Given the description of an element on the screen output the (x, y) to click on. 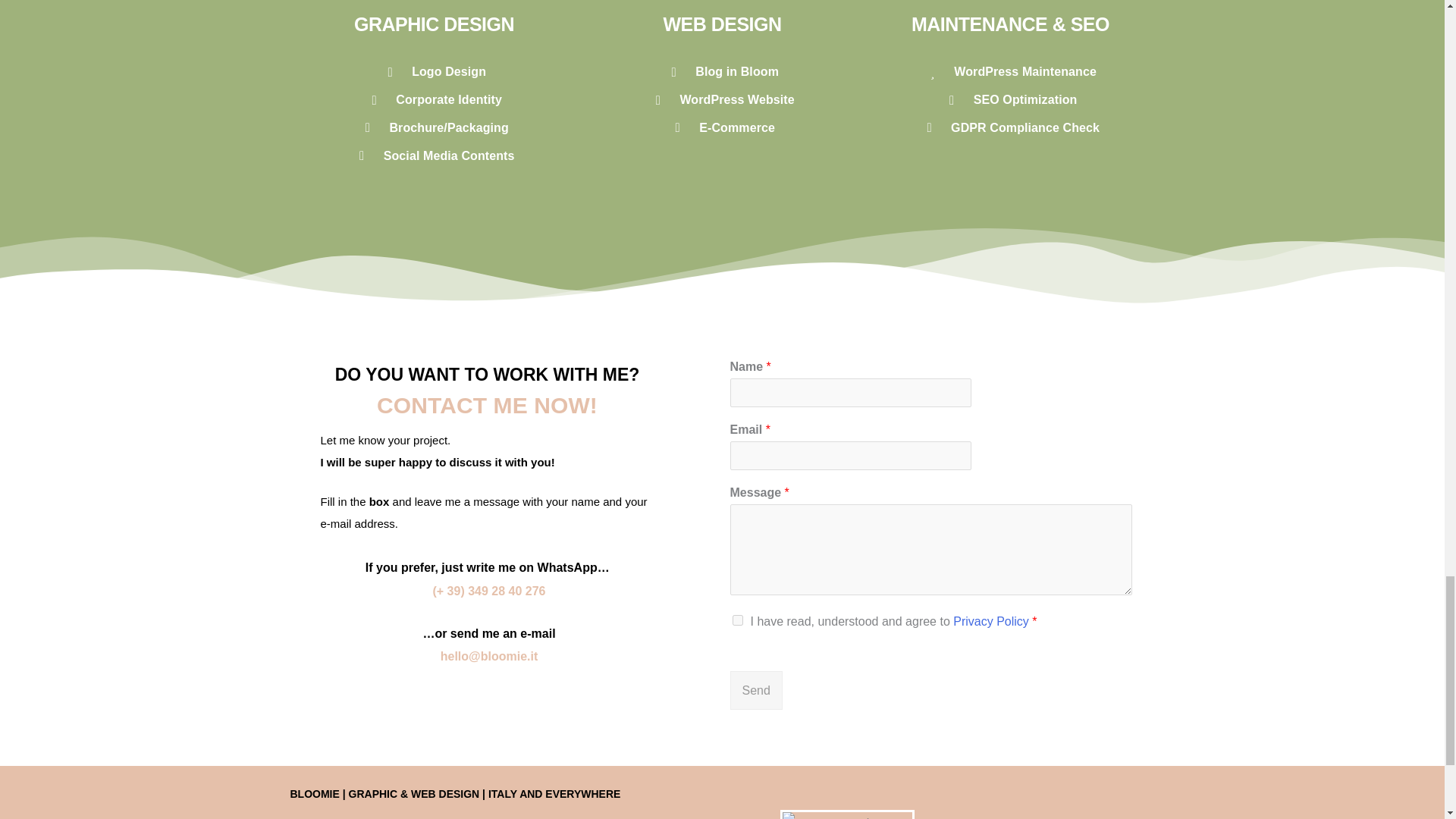
WEB DESIGN (721, 24)
Privacy Policy (991, 621)
GRAPHIC DESIGN (433, 24)
Send (755, 690)
